Given the description of an element on the screen output the (x, y) to click on. 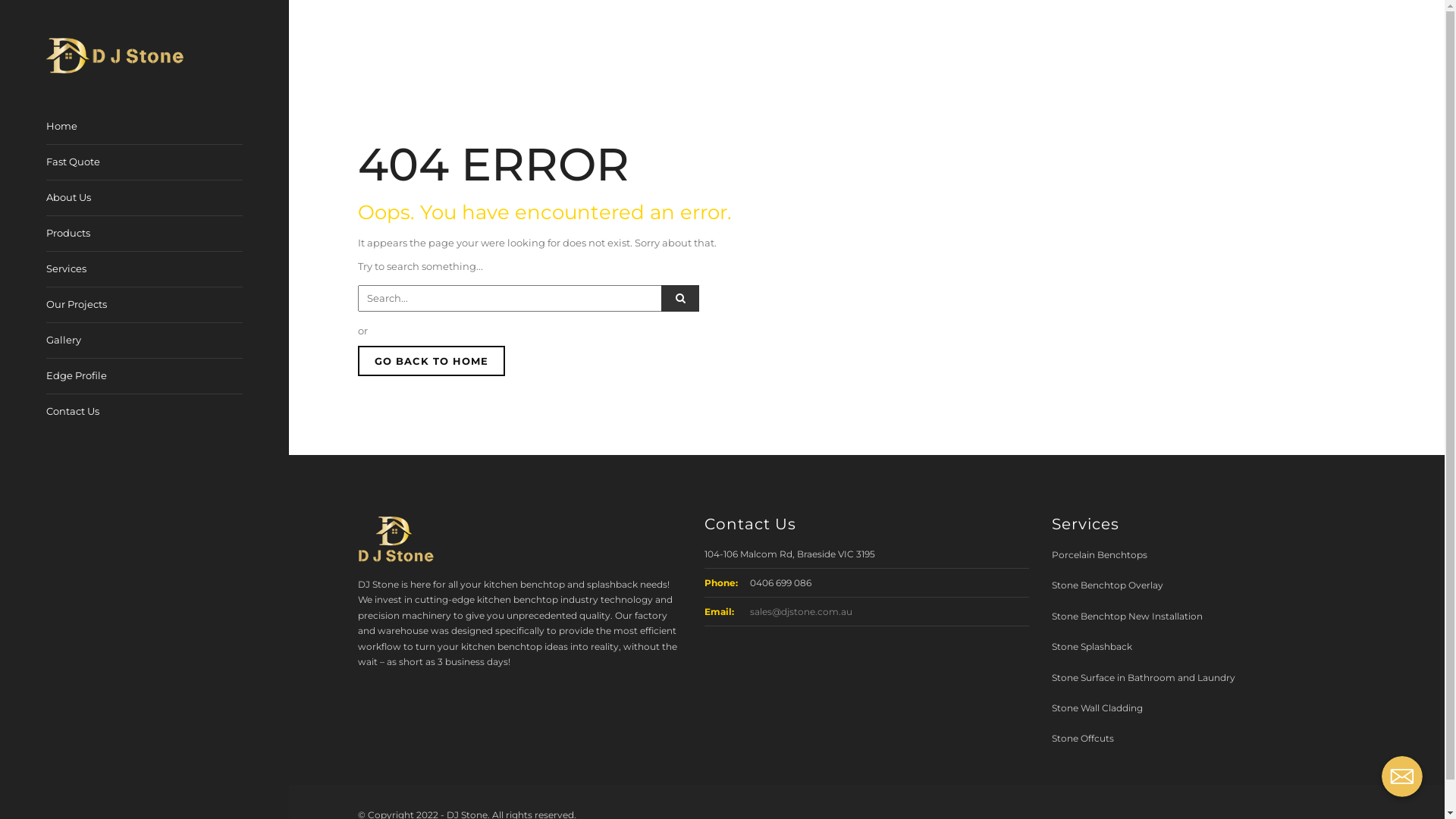
Stone Offcuts Element type: text (1082, 737)
Stone Surface in Bathroom and Laundry Element type: text (1143, 677)
Home Element type: text (69, 126)
Porcelain Benchtops Element type: text (1099, 554)
Email Element type: text (1401, 776)
GO BACK TO HOME Element type: text (431, 360)
Stone Splashback Element type: text (1091, 646)
Our Projects Element type: text (84, 304)
Edge Profile Element type: text (84, 375)
Contact Us Element type: text (72, 411)
Services Element type: text (73, 268)
Products Element type: text (75, 233)
Stone Benchtop New Installation Element type: text (1126, 615)
sales@djstone.com.au Element type: text (800, 611)
Stone Benchtop Overlay Element type: text (1107, 584)
About Us Element type: text (76, 197)
Fast Quote Element type: text (80, 161)
Stone Wall Cladding Element type: text (1096, 707)
Gallery Element type: text (71, 340)
